Given the description of an element on the screen output the (x, y) to click on. 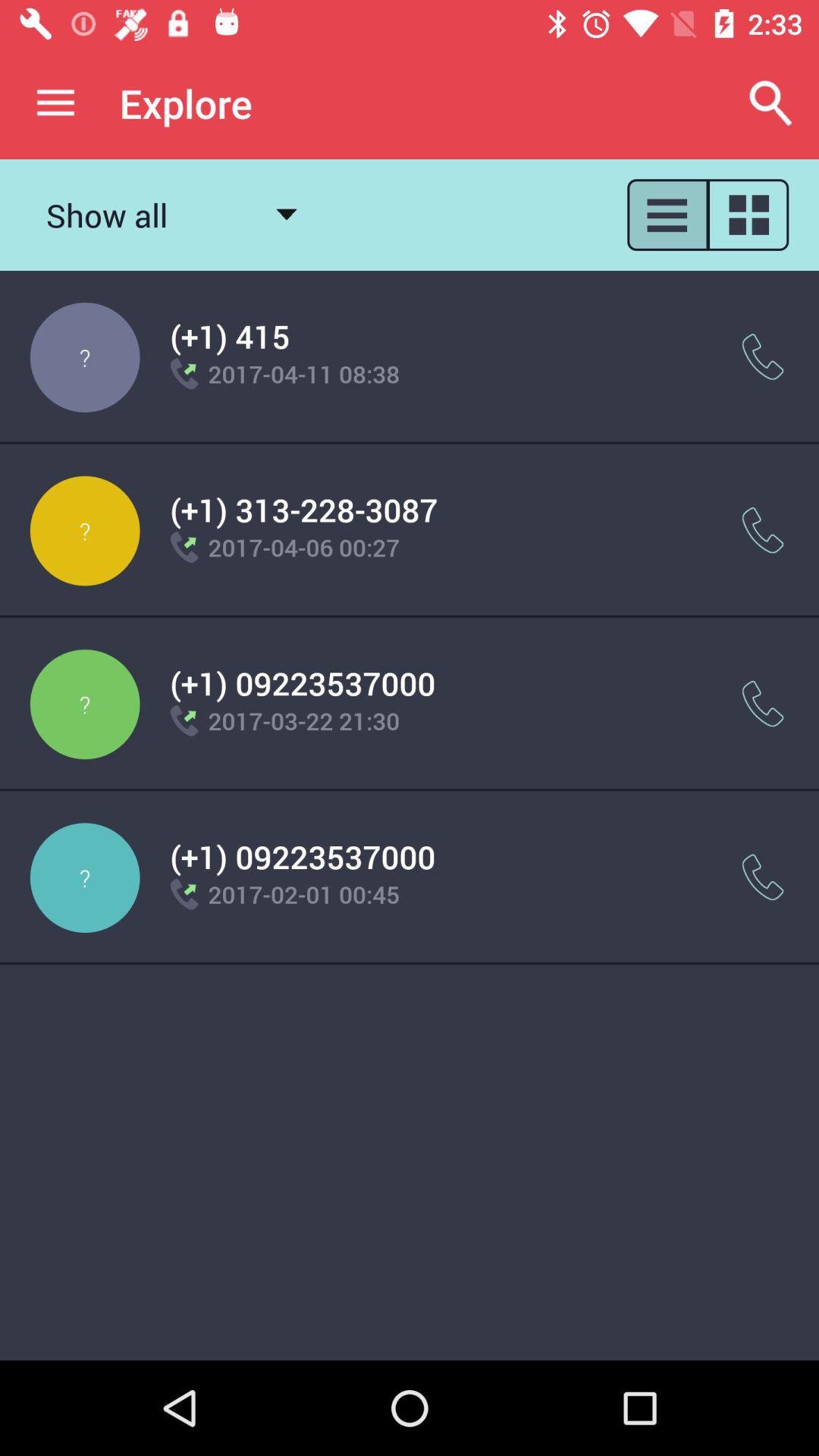
open the item next to the (+1) 09223537000 (762, 703)
